Given the description of an element on the screen output the (x, y) to click on. 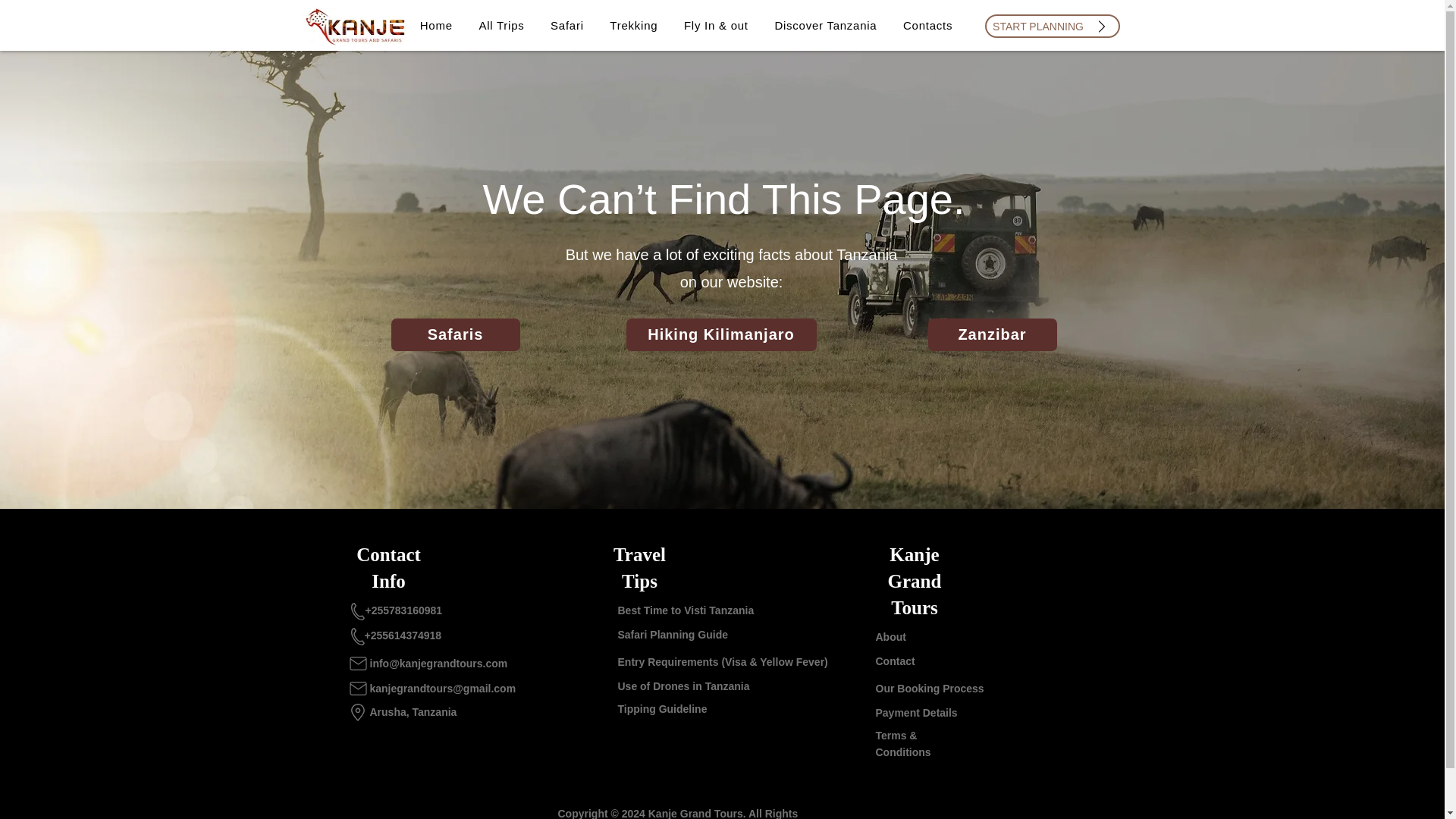
Contacts (927, 25)
START PLANNING (1051, 25)
Zanzibar (992, 334)
Home (436, 25)
Tipping Guideline (661, 707)
Safaris (455, 334)
Hiking Kilimanjaro (721, 334)
